Given the description of an element on the screen output the (x, y) to click on. 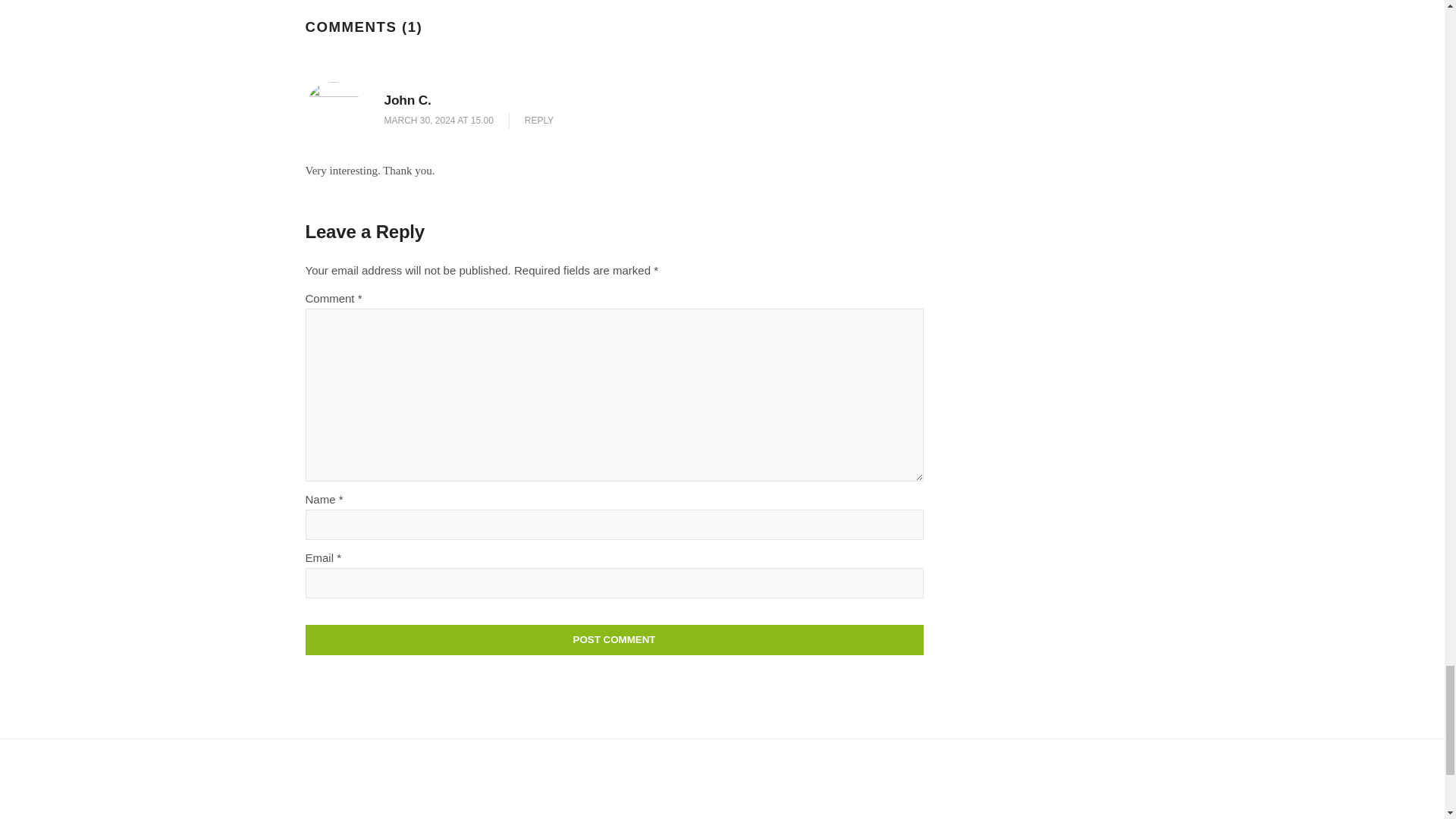
Post Comment (613, 639)
